Given the description of an element on the screen output the (x, y) to click on. 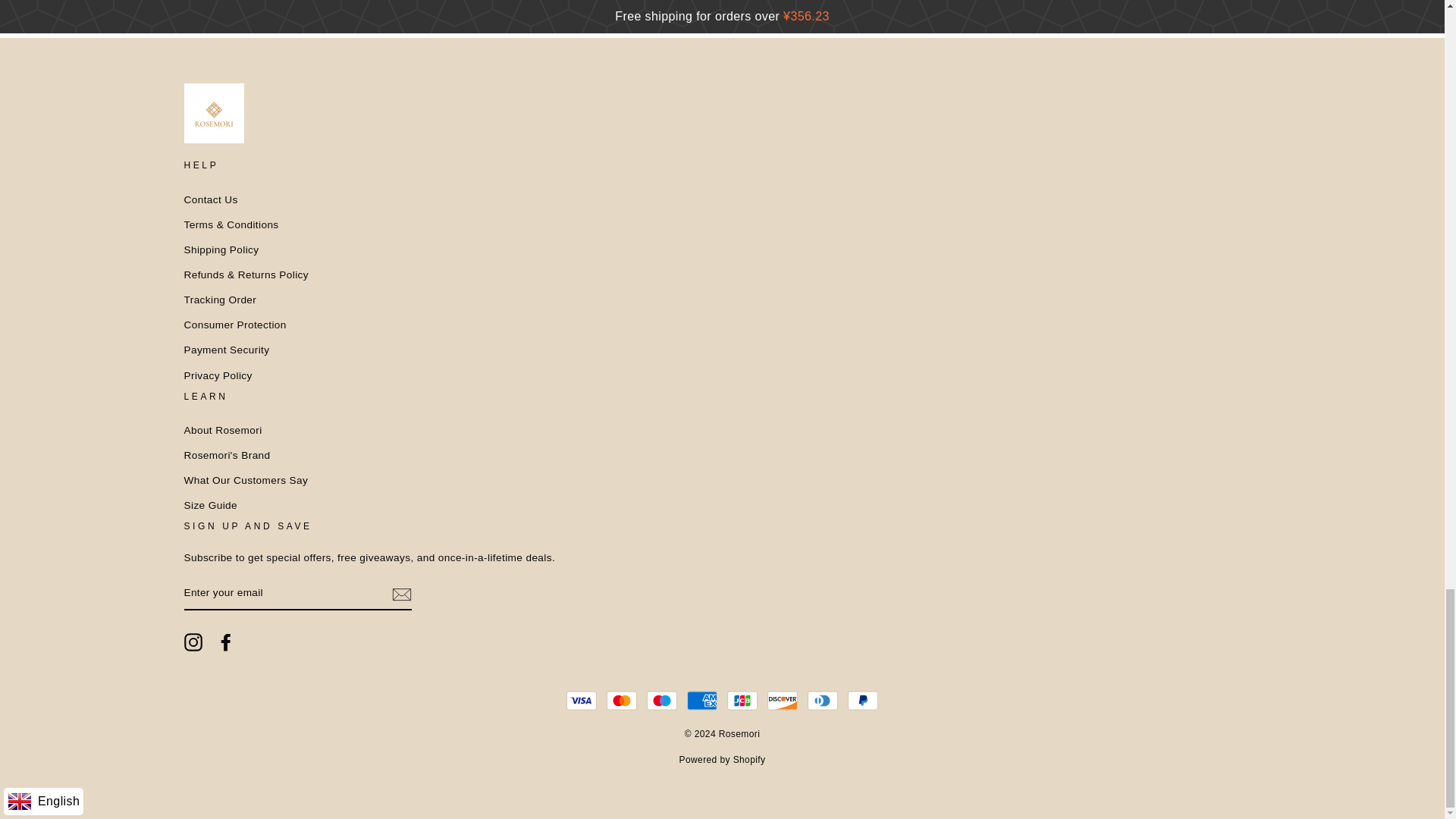
Mastercard (622, 700)
Visa (581, 700)
Rosemori on Facebook (225, 642)
American Express (702, 700)
Maestro (661, 700)
Diners Club (823, 700)
JCB (741, 700)
Discover (782, 700)
PayPal (862, 700)
Rosemori on Instagram (192, 642)
